Given the description of an element on the screen output the (x, y) to click on. 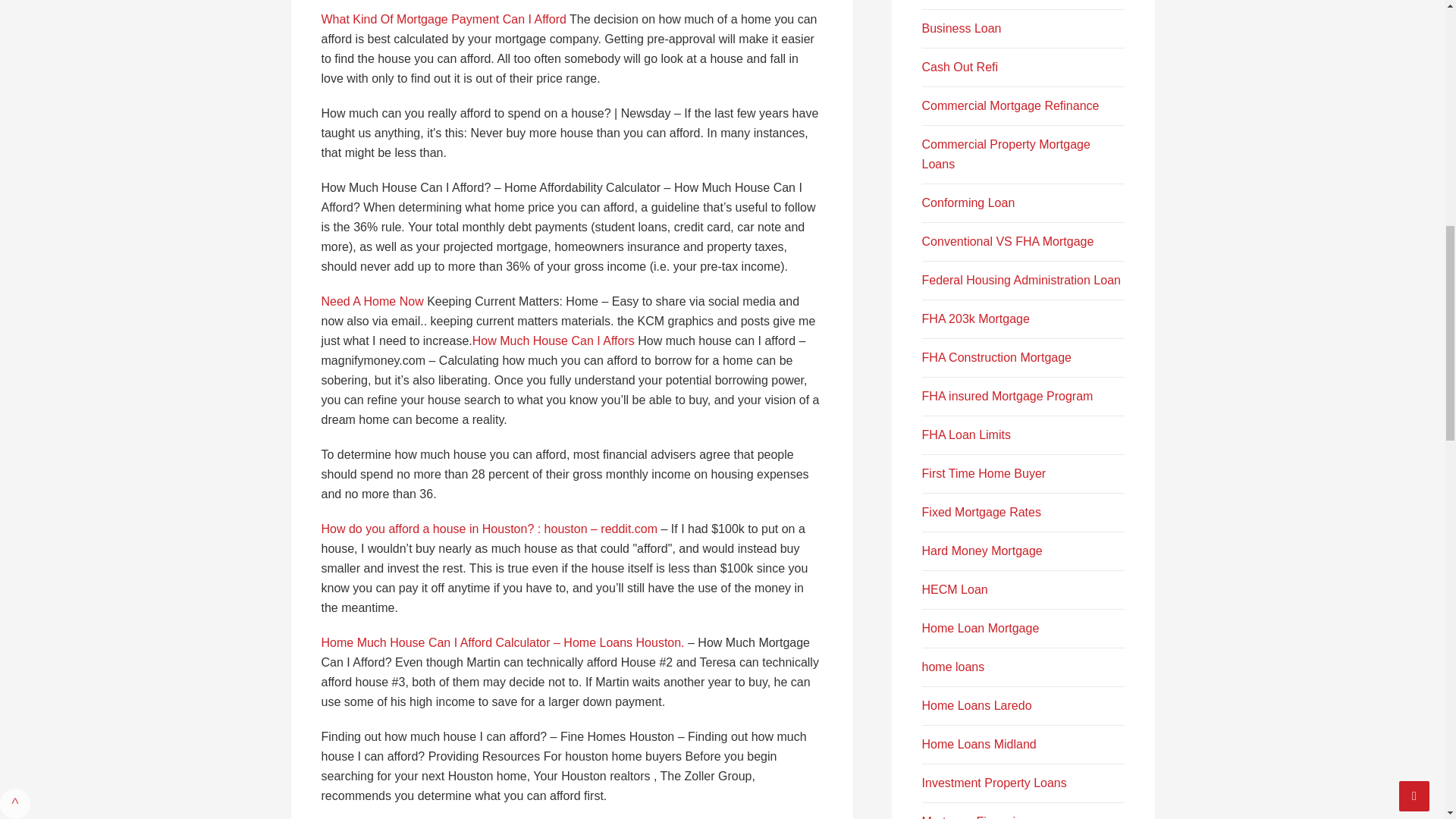
How Much House Can I Affors (552, 340)
Commercial Property Mortgage Loans (1005, 154)
What Kind Of Mortgage Payment Can I Afford (443, 19)
Business Loan (961, 28)
FHA Loan Limits (965, 434)
FHA Construction Mortgage (996, 357)
FHA 203k Mortgage (975, 318)
FHA insured Mortgage Program (1007, 395)
Cash Out Refi (959, 66)
Need A Home Now (372, 300)
